Given the description of an element on the screen output the (x, y) to click on. 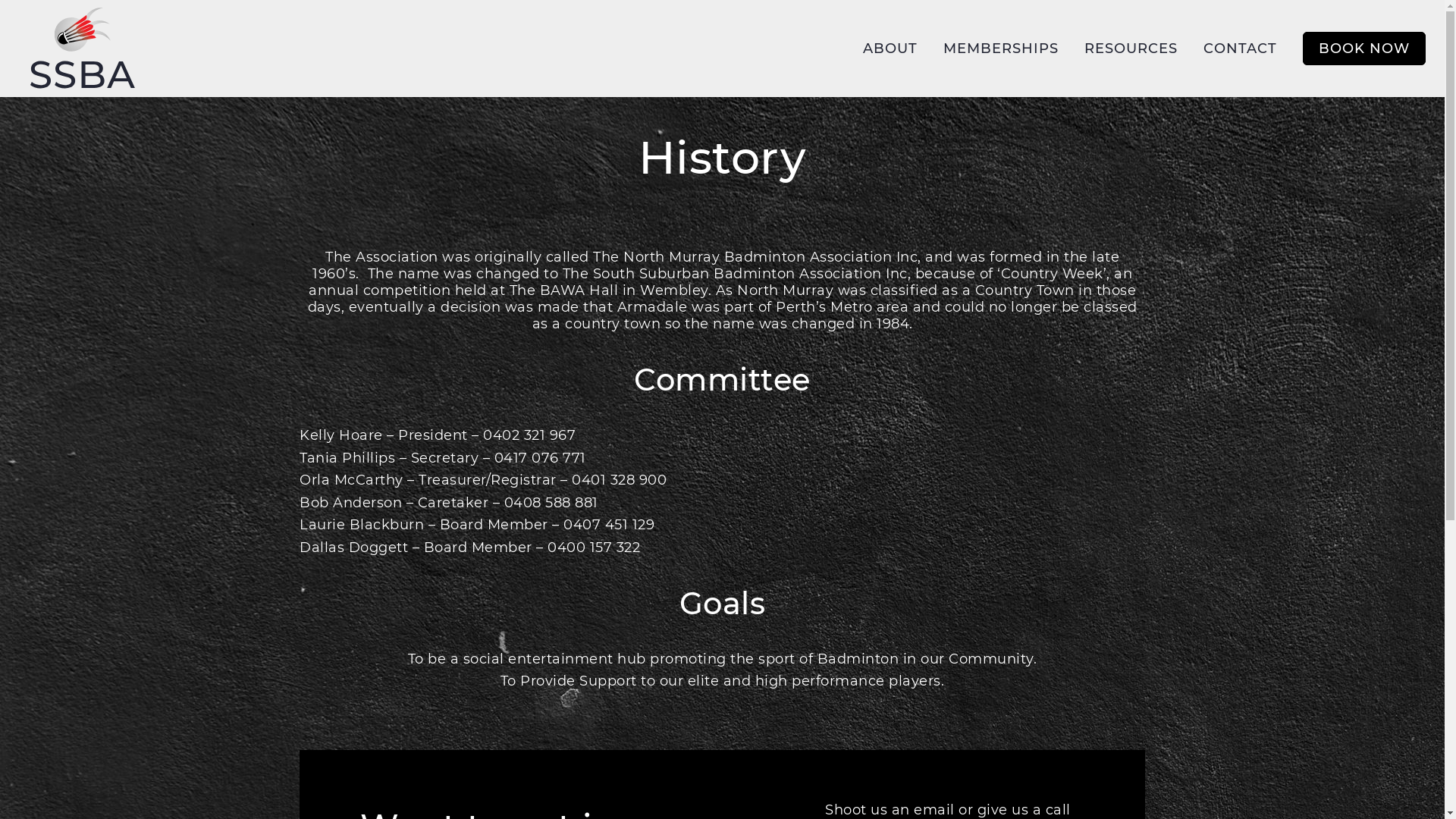
BOOK NOW Element type: text (1363, 48)
CONTACT Element type: text (1240, 48)
ABOUT Element type: text (889, 48)
RESOURCES Element type: text (1130, 48)
MEMBERSHIPS Element type: text (1000, 48)
    Element type: text (82, 48)
